Given the description of an element on the screen output the (x, y) to click on. 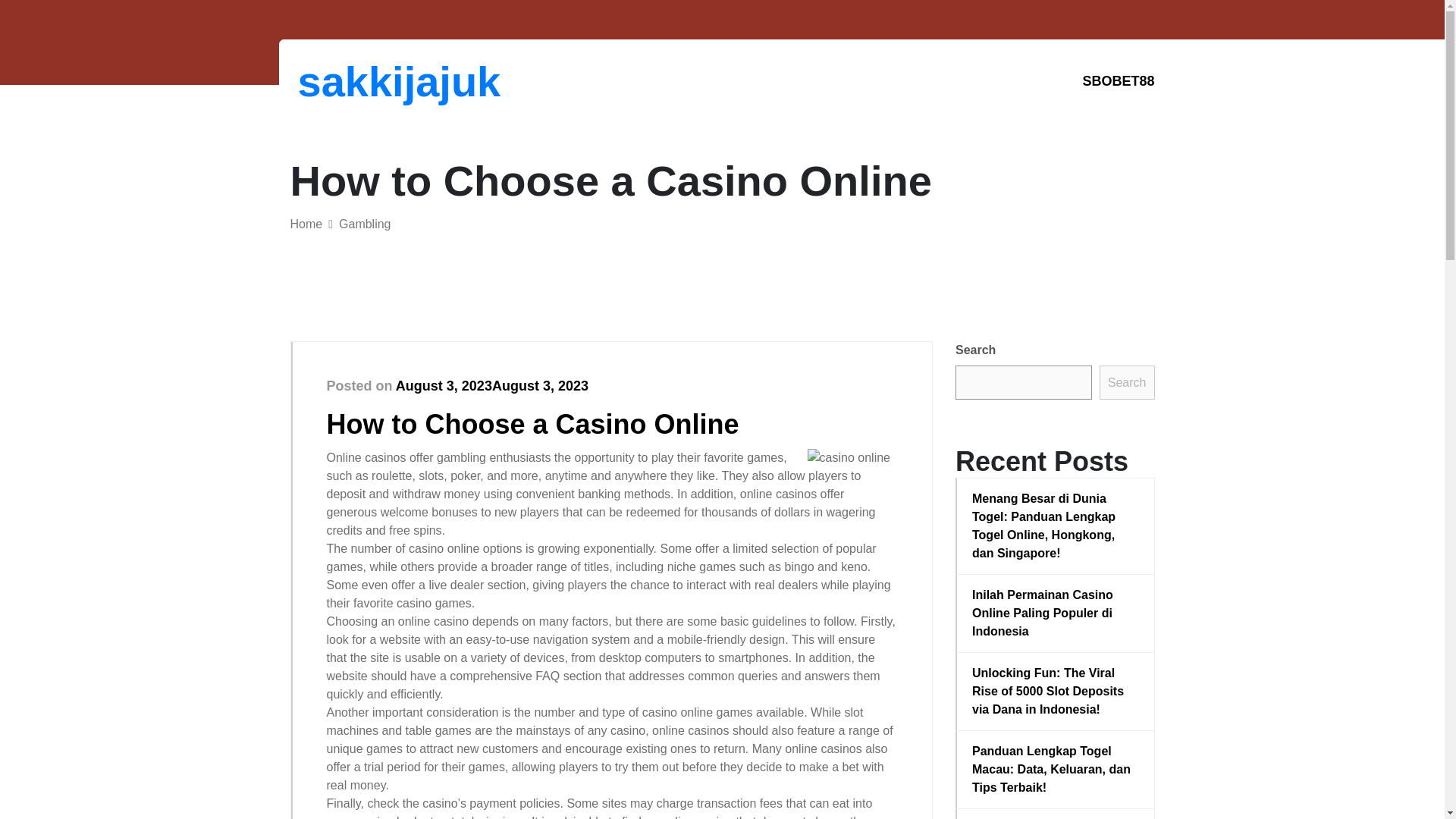
sakkijajuk (376, 81)
Home (305, 223)
August 3, 2023August 3, 2023 (492, 385)
SBOBET88 (1117, 81)
Gambling (364, 223)
How to Choose a Casino Online (532, 423)
Search (1126, 382)
Inilah Permainan Casino Online Paling Populer di Indonesia (1055, 613)
